Given the description of an element on the screen output the (x, y) to click on. 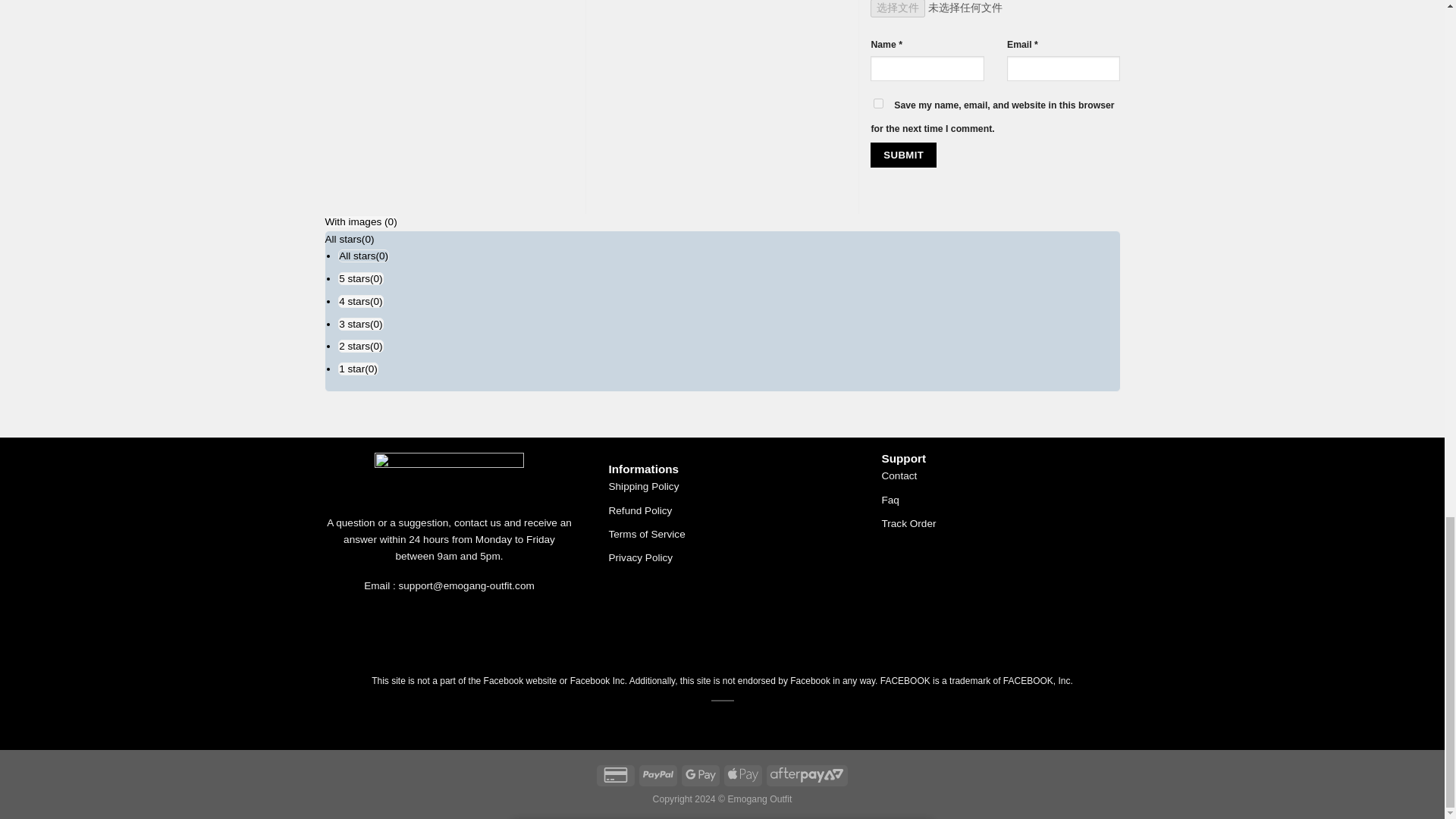
yes (878, 103)
Submit (903, 155)
